Given the description of an element on the screen output the (x, y) to click on. 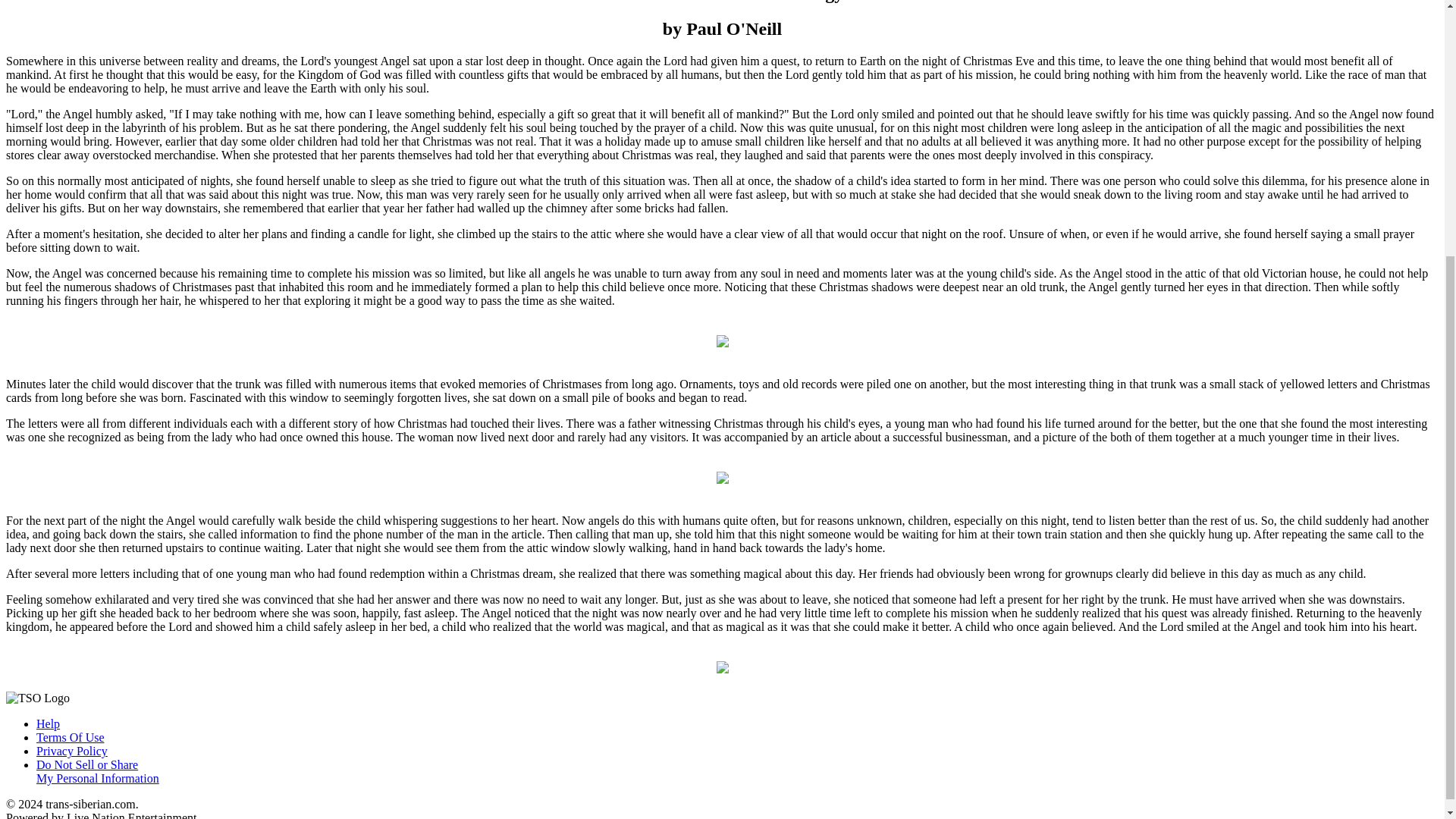
Help (47, 723)
Terms Of Use (97, 771)
Privacy Policy (70, 737)
